Given the description of an element on the screen output the (x, y) to click on. 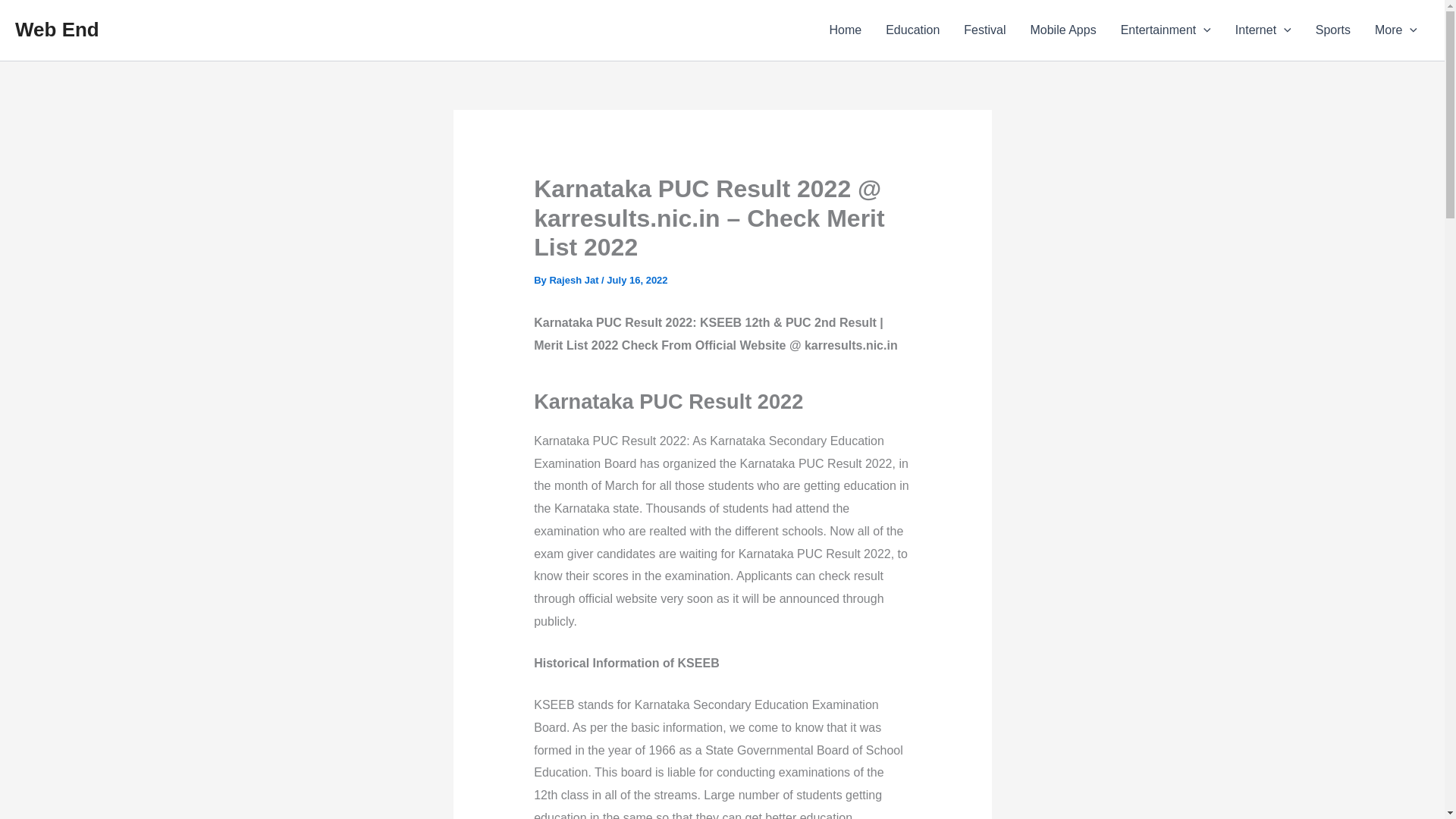
Sports (1332, 30)
Education (912, 30)
Entertainment (1165, 30)
More (1395, 30)
Web End (56, 29)
Mobile Apps (1062, 30)
View all posts by Rajesh Jat (574, 279)
Internet (1263, 30)
Rajesh Jat (574, 279)
Festival (984, 30)
